Given the description of an element on the screen output the (x, y) to click on. 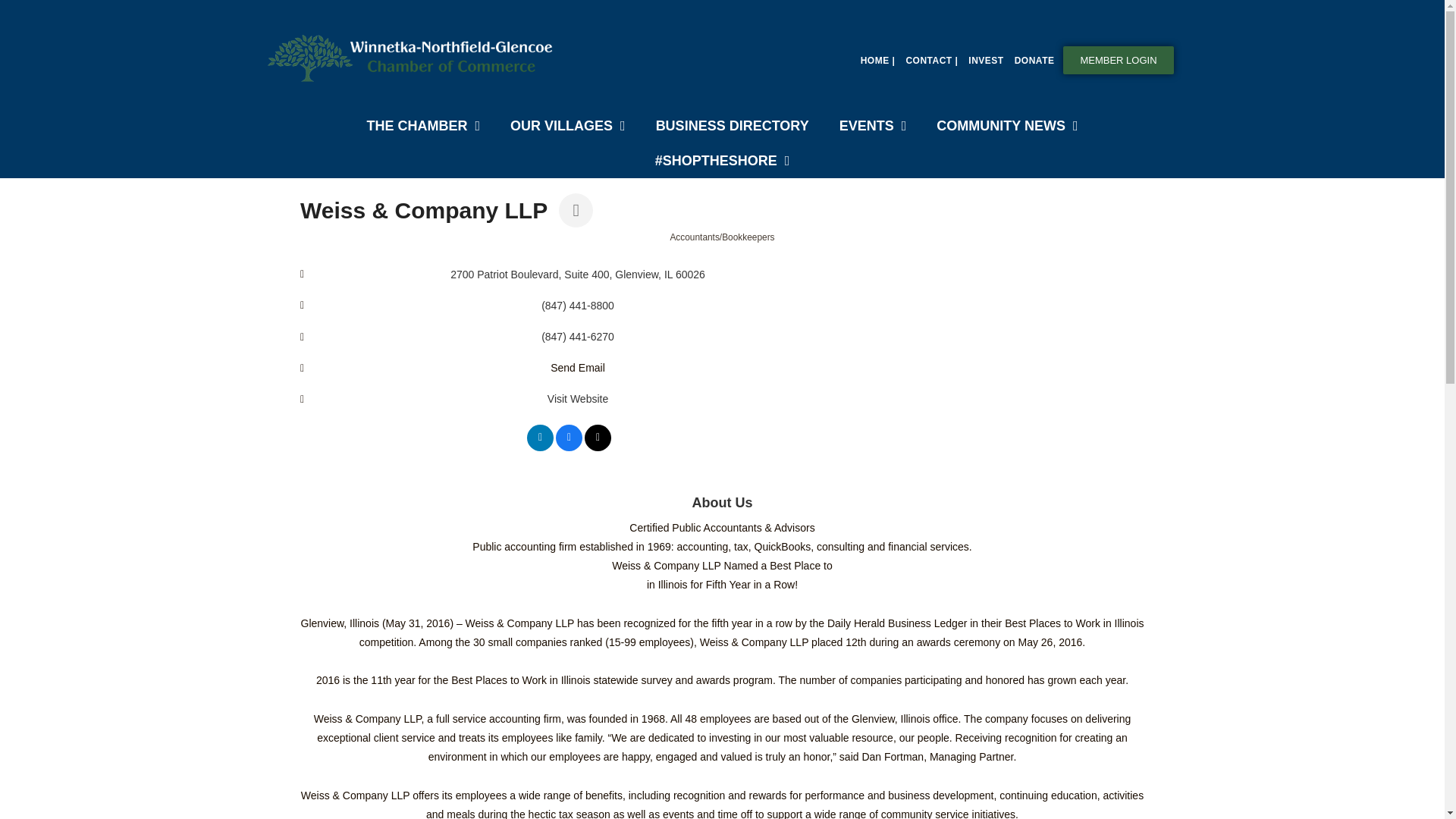
THE CHAMBER (422, 125)
MEMBER LOGIN (1117, 59)
View on Twitter (598, 447)
View on Facebook (569, 447)
View on LinkedIn (540, 447)
OUR VILLAGES (567, 125)
INVEST (985, 60)
Winnetka-Northfield-Glencoe Chamber of Commerce (413, 57)
DONATE (1034, 60)
EVENTS (872, 125)
BUSINESS DIRECTORY (732, 125)
